Given the description of an element on the screen output the (x, y) to click on. 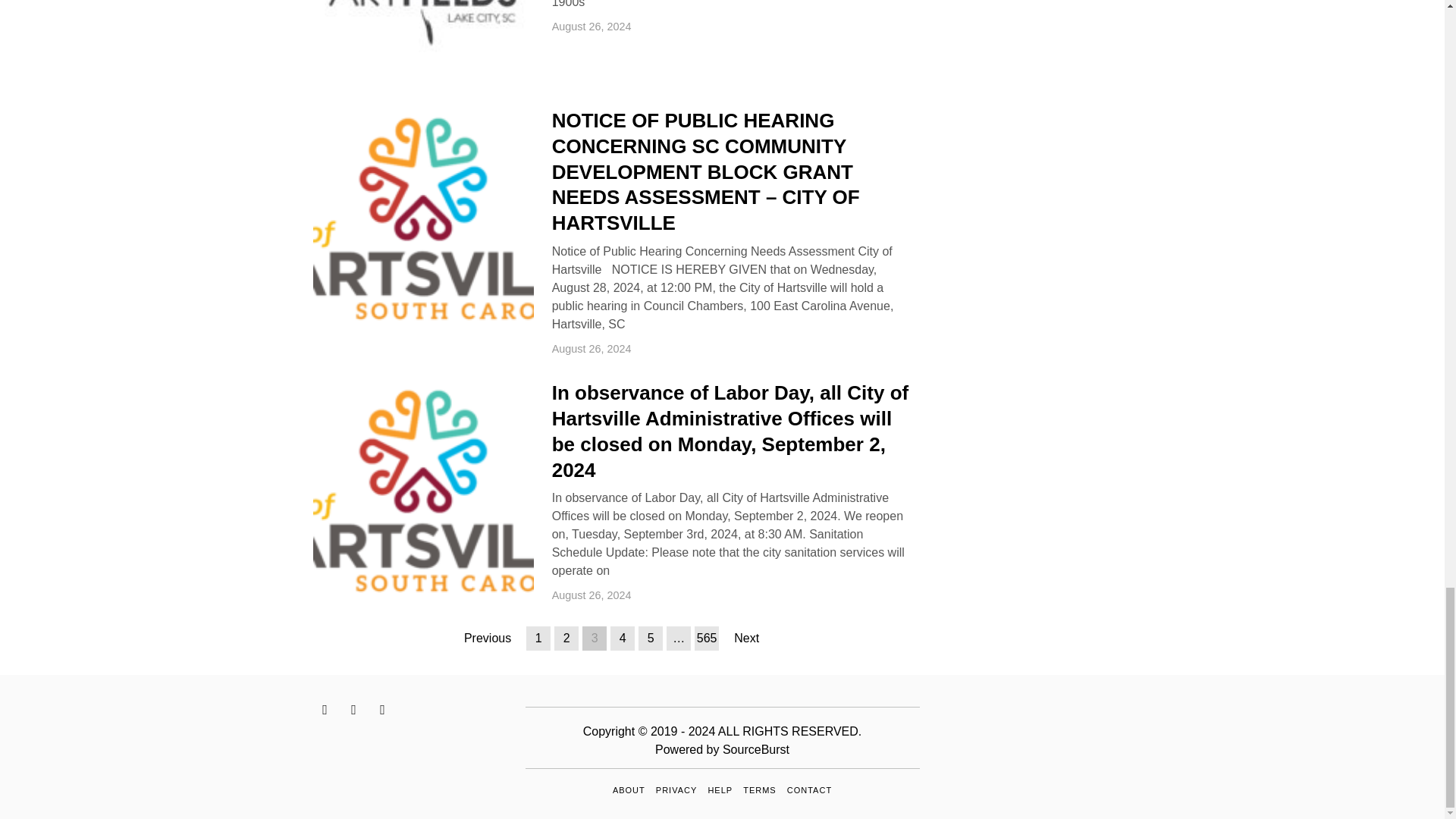
26 Aug, 2024 17:34:40 (591, 595)
26 Aug, 2024 21:58:55 (591, 26)
26 Aug, 2024 19:36:15 (591, 348)
